Given the description of an element on the screen output the (x, y) to click on. 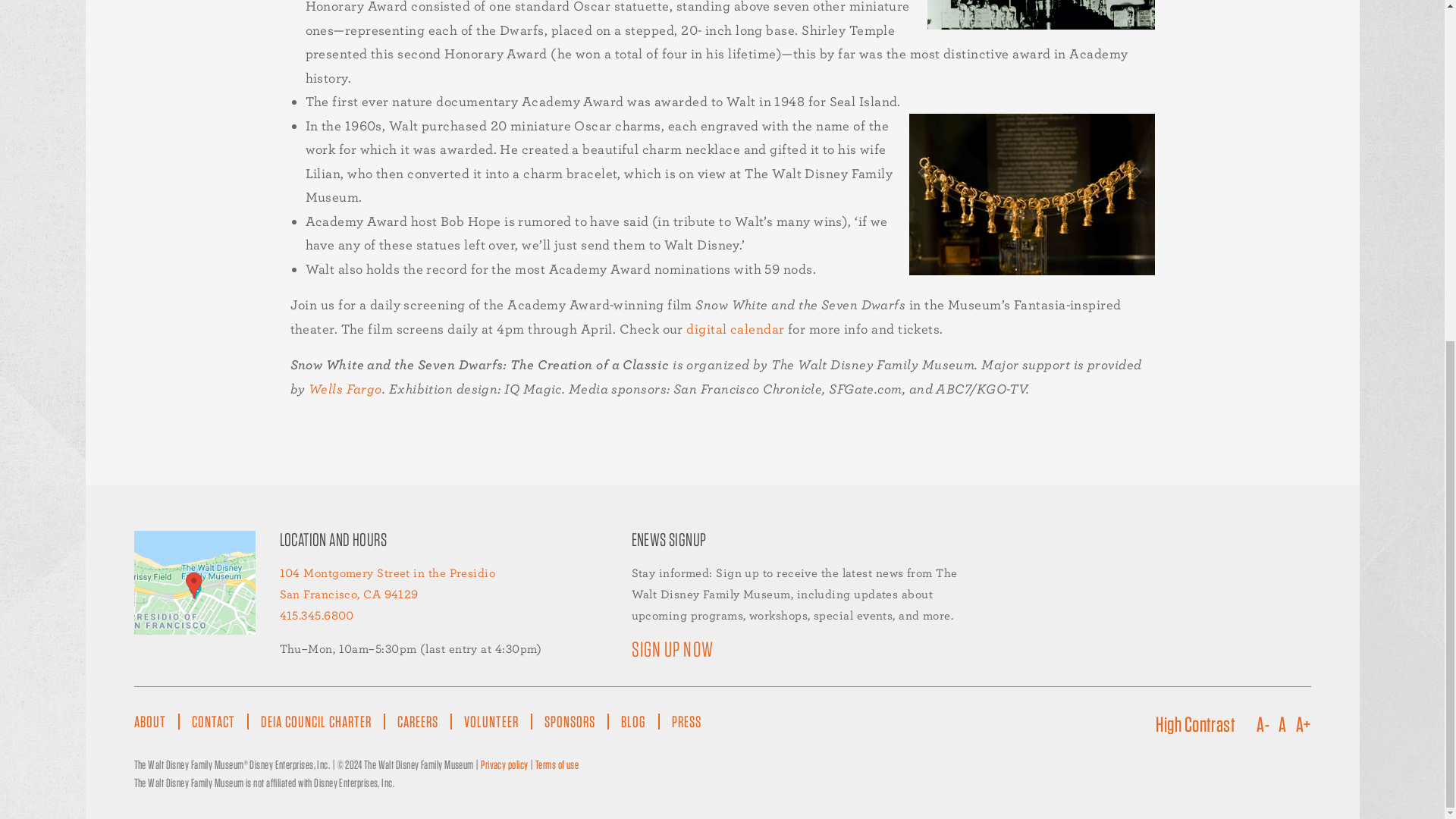
Email News Sign Up (681, 649)
Terms of Use (556, 764)
Privacy Policy (503, 764)
DEIA Council Charter (316, 721)
